Given the description of an element on the screen output the (x, y) to click on. 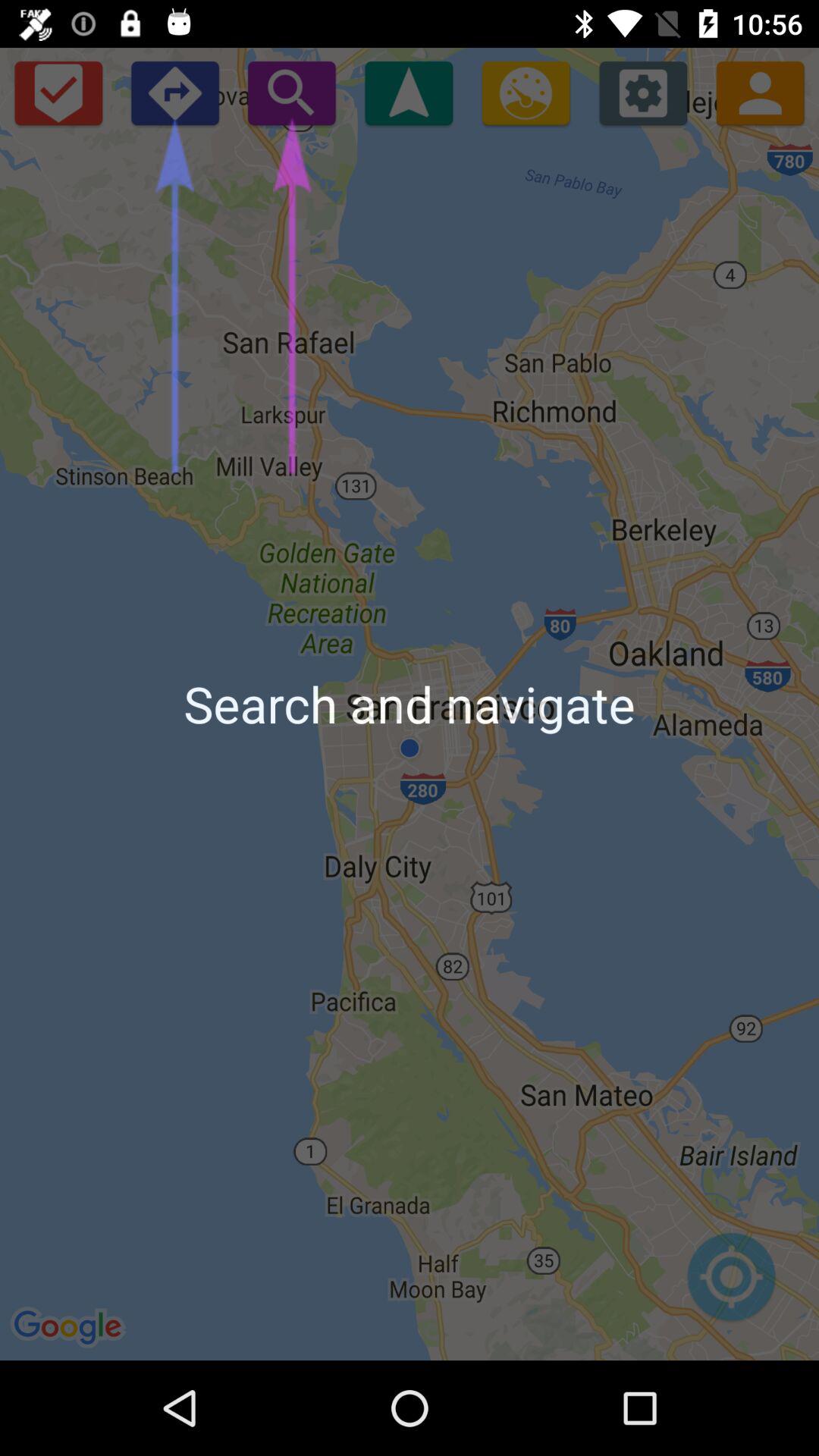
turn off item above the search and navigate app (525, 92)
